Given the description of an element on the screen output the (x, y) to click on. 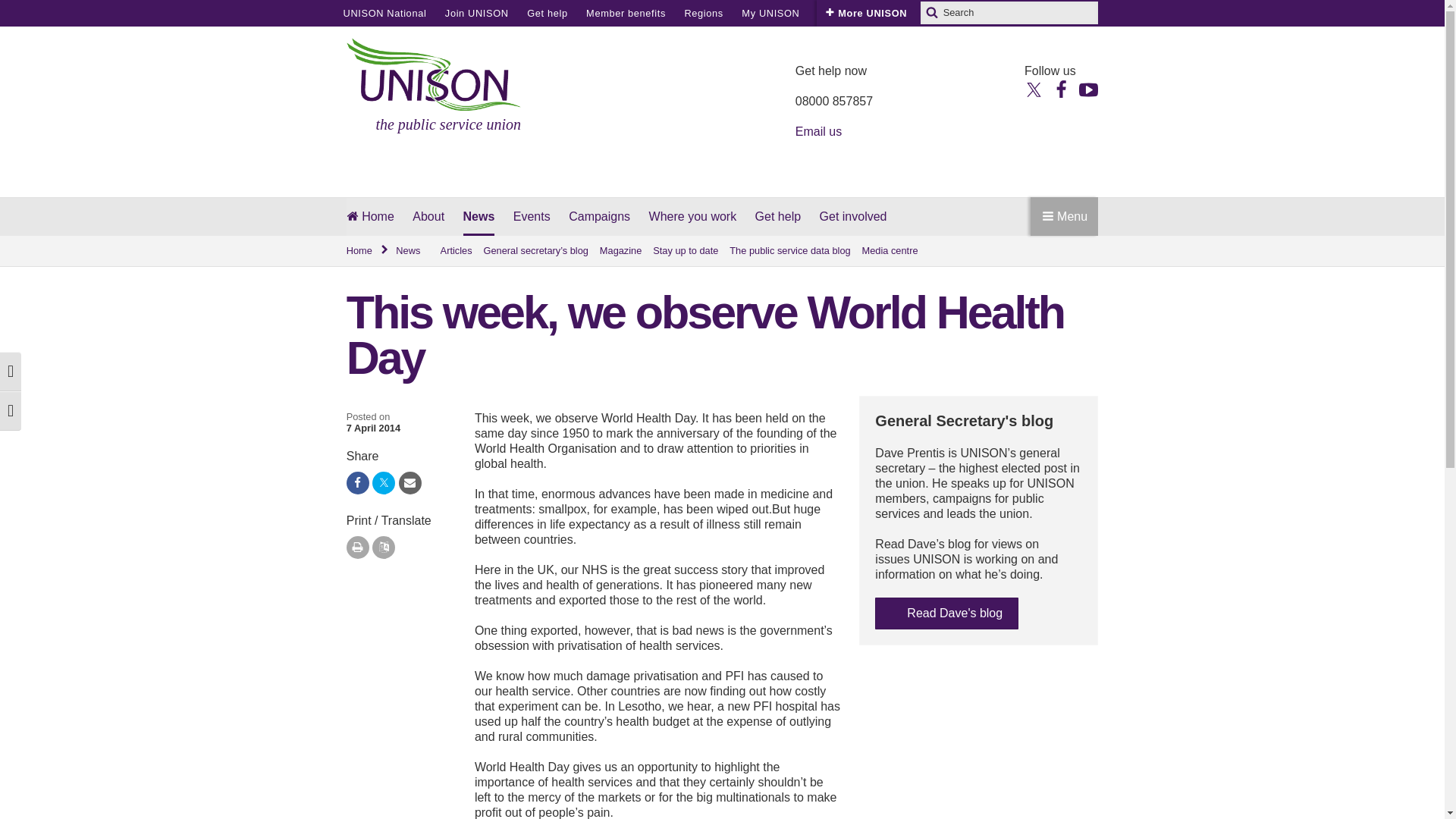
More UNISON (865, 13)
Youtube (1087, 88)
Email us (817, 131)
Print page (357, 547)
Home (368, 250)
Facebook (1060, 88)
Other sites (844, 13)
Join UNISON (476, 13)
Toggle High Contrast (10, 371)
Twitter (1034, 88)
the public service union (433, 85)
Articles (456, 250)
